Given the description of an element on the screen output the (x, y) to click on. 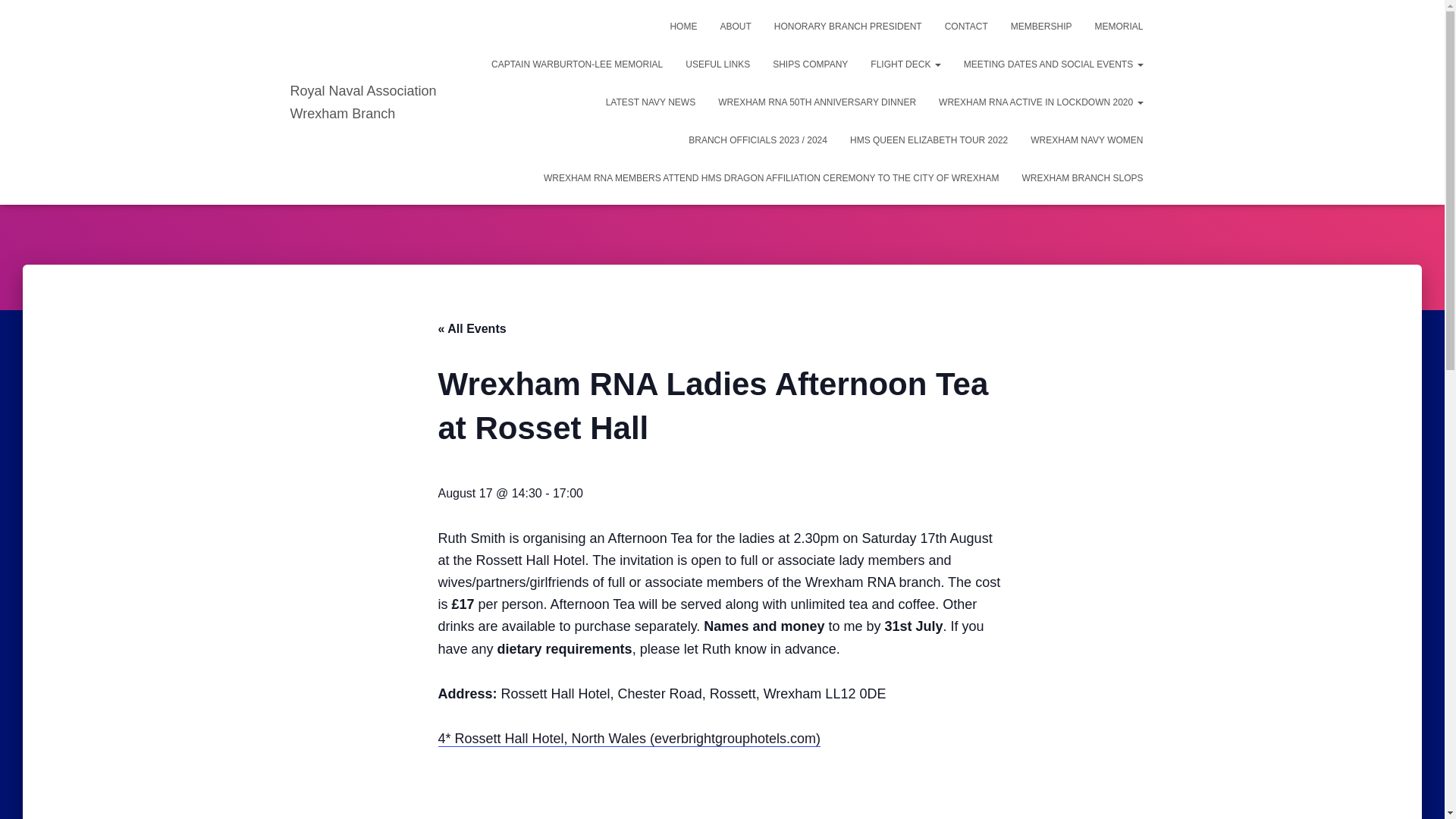
CONTACT (965, 26)
HMS QUEEN ELIZABETH TOUR 2022 (928, 139)
keithp (717, 161)
Useful Links (717, 64)
Royal   Naval Association Wrexham Branch (379, 102)
USEFUL LINKS (717, 64)
Membership (1040, 26)
WREXHAM RNA 50TH ANNIVERSARY DINNER (816, 102)
About (734, 26)
MEMBERSHIP (1040, 26)
HOME (682, 26)
Meeting Dates and Social Events (1053, 64)
FLIGHT DECK (905, 64)
CAPTAIN WARBURTON-LEE MEMORIAL (577, 64)
